Given the description of an element on the screen output the (x, y) to click on. 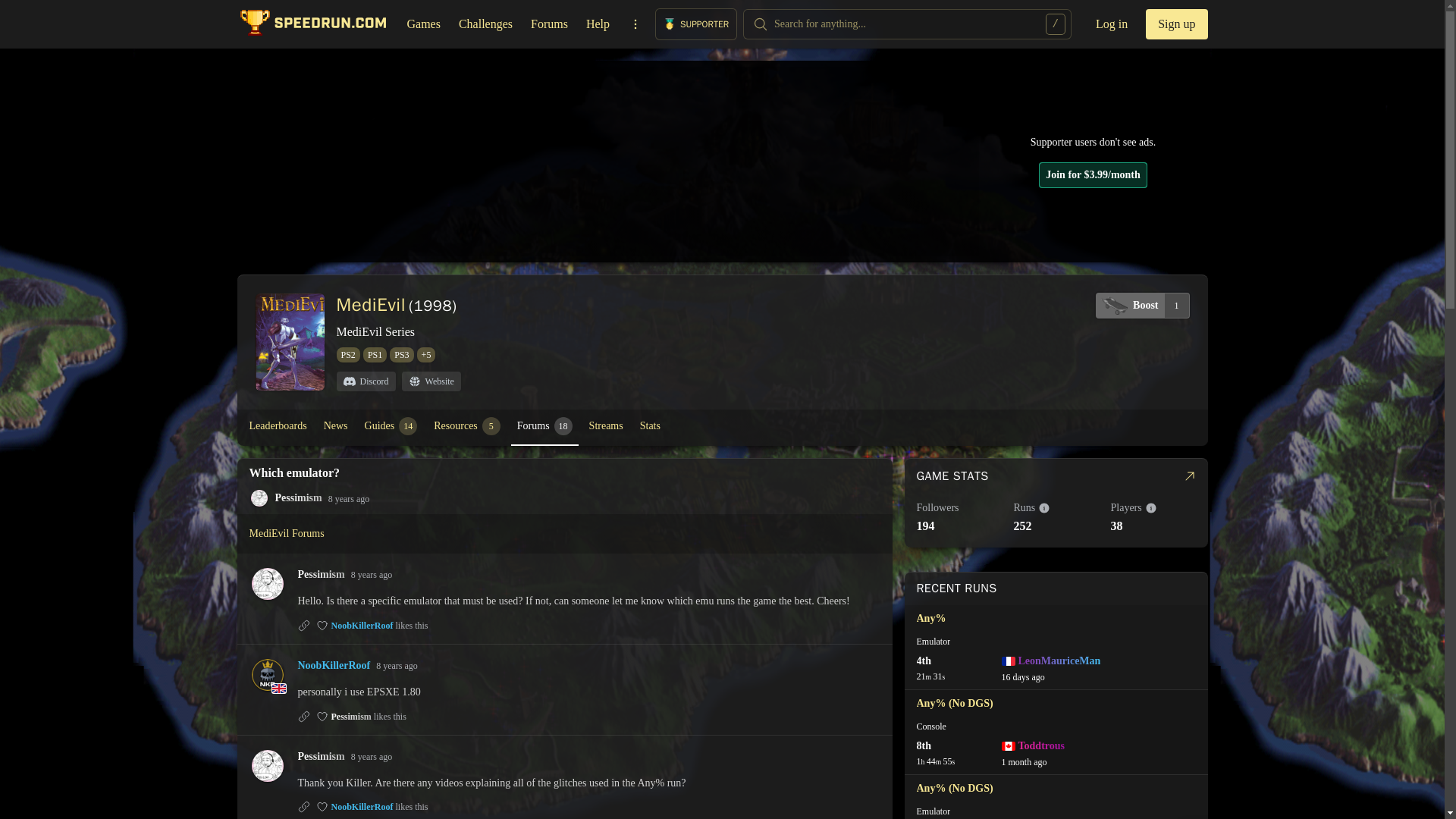
MediEvil (371, 304)
PS1 (374, 354)
MediEvil Series (375, 331)
Help (597, 24)
Leaderboards (278, 426)
Forums (544, 426)
More... (548, 24)
Challenges (635, 24)
SUPPORTER (467, 426)
Website (1142, 305)
